Given the description of an element on the screen output the (x, y) to click on. 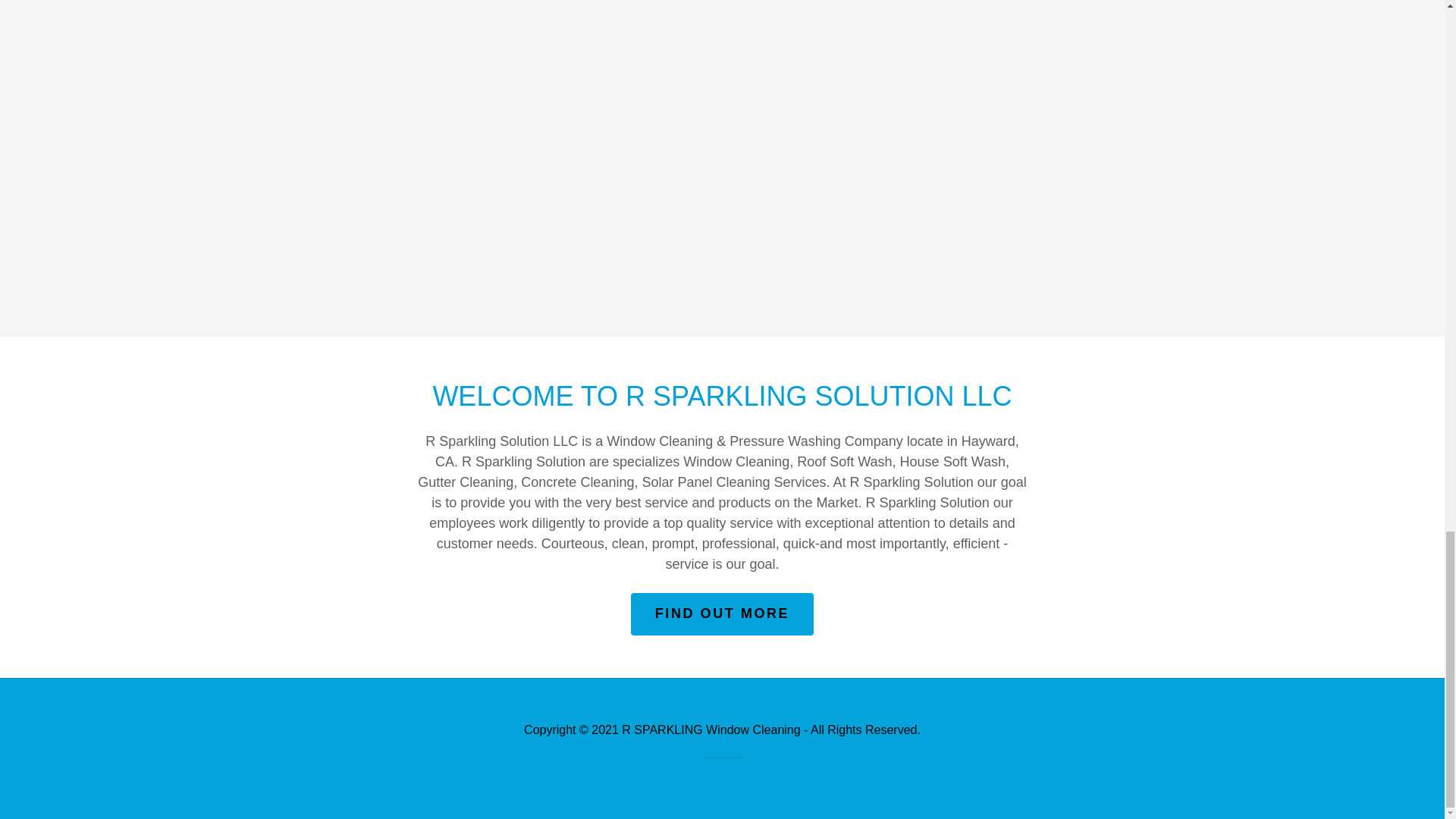
FIND OUT MORE (721, 613)
